Given the description of an element on the screen output the (x, y) to click on. 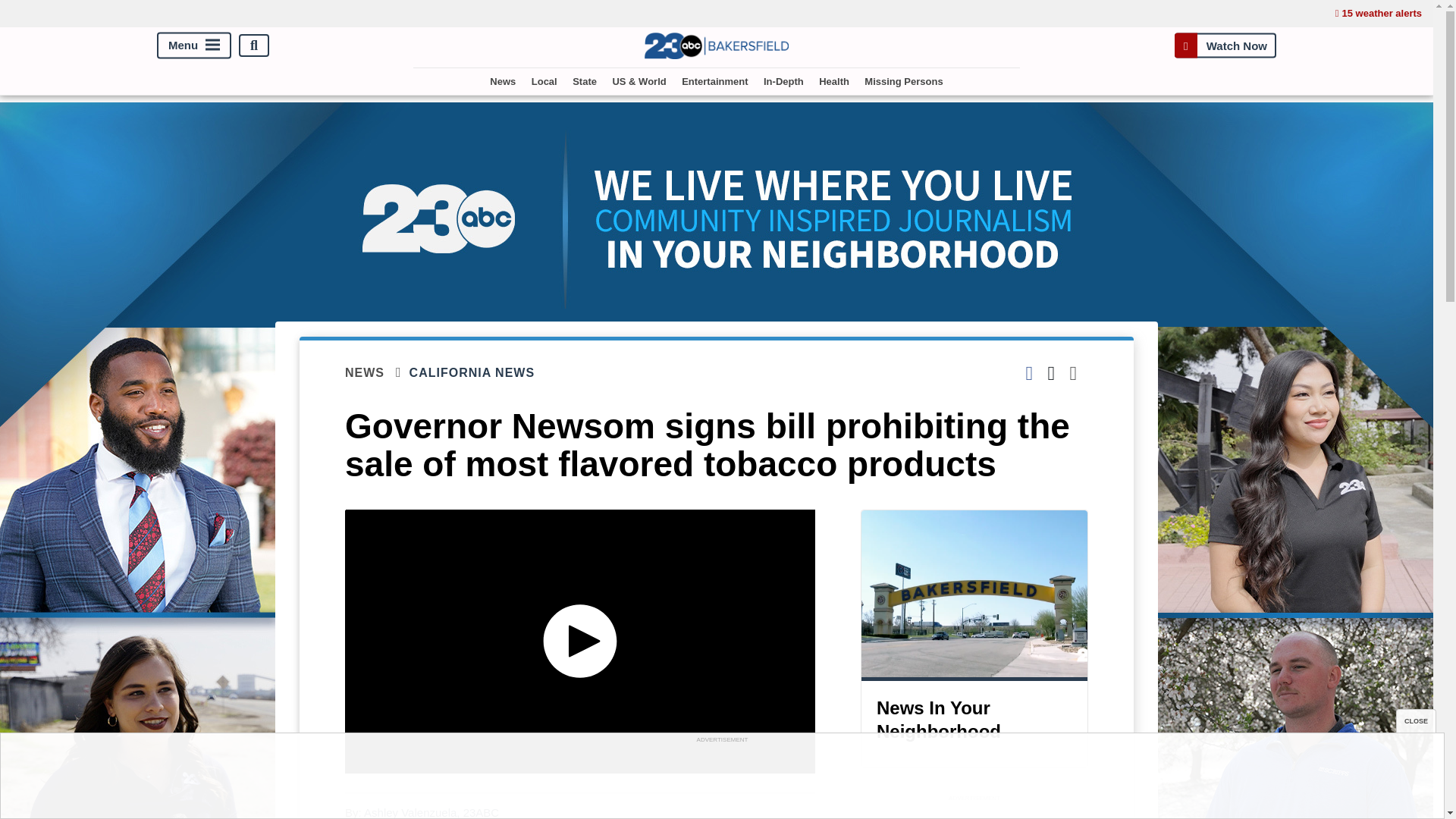
Watch Now (1224, 45)
3rd party ad content (973, 812)
Menu (194, 45)
3rd party ad content (721, 780)
